Given the description of an element on the screen output the (x, y) to click on. 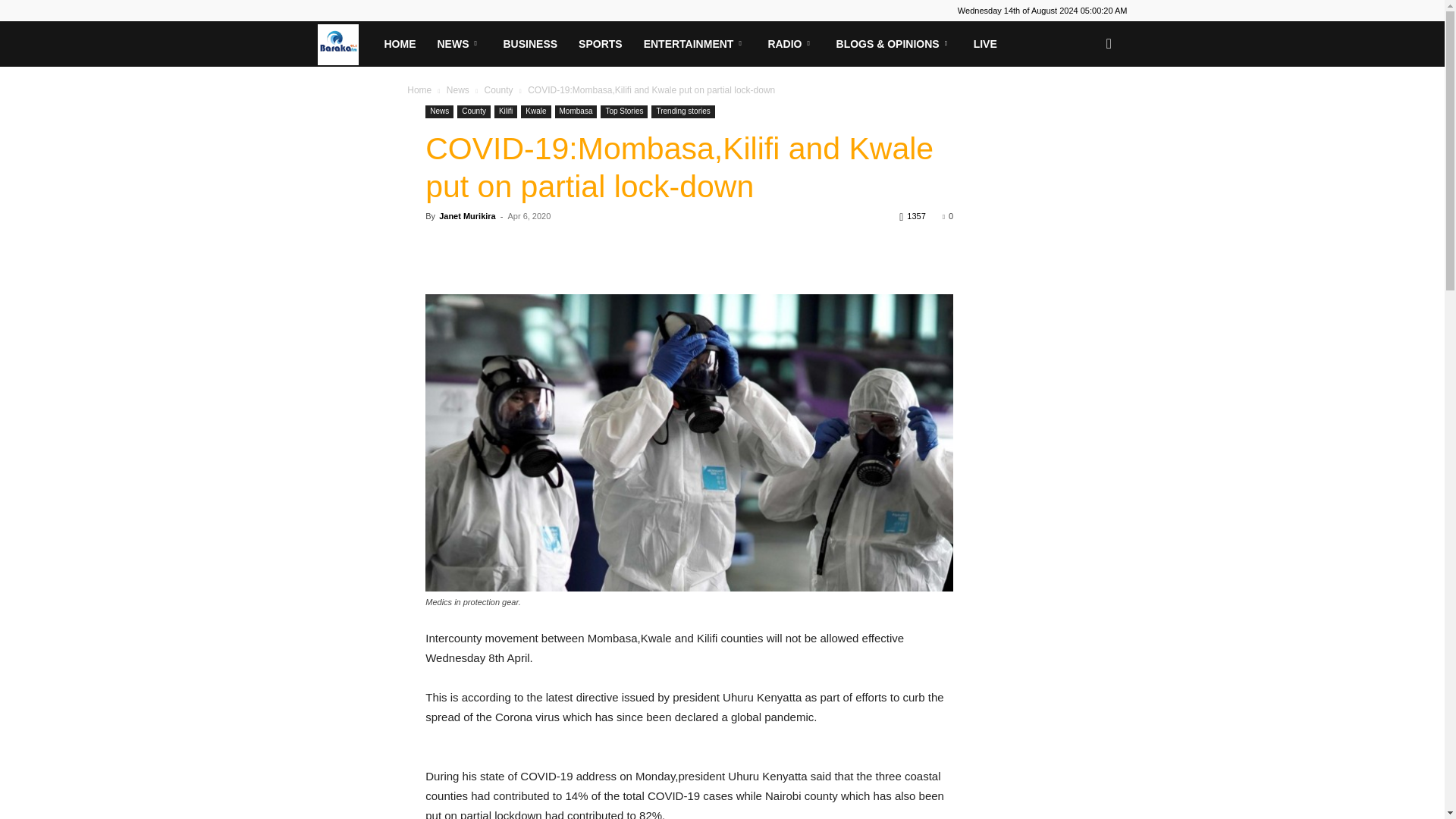
HOME (399, 43)
NEWS (459, 43)
Baraka FM 95.5 (344, 43)
